Given the description of an element on the screen output the (x, y) to click on. 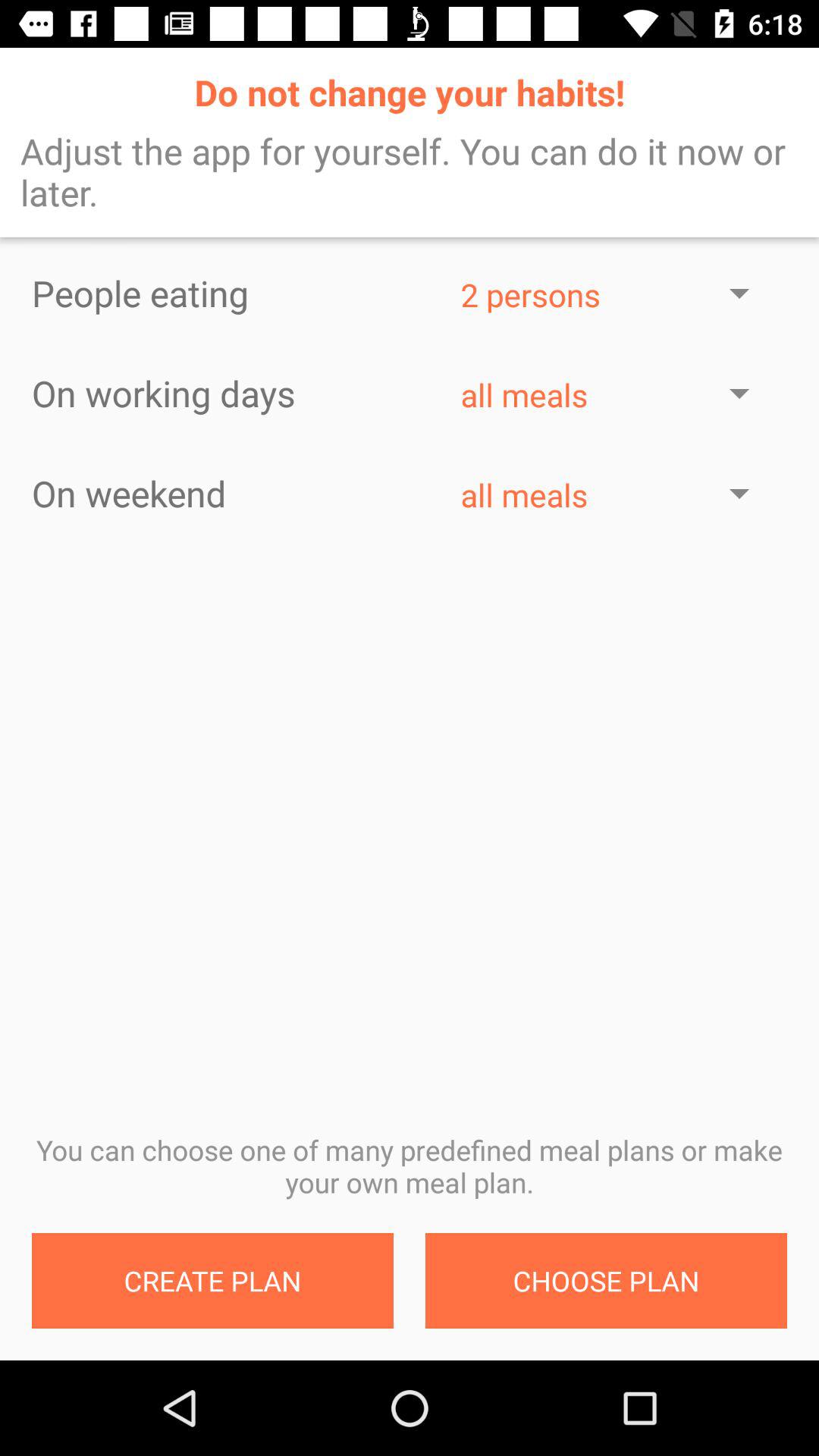
turn on the item next to the choose plan icon (212, 1280)
